Given the description of an element on the screen output the (x, y) to click on. 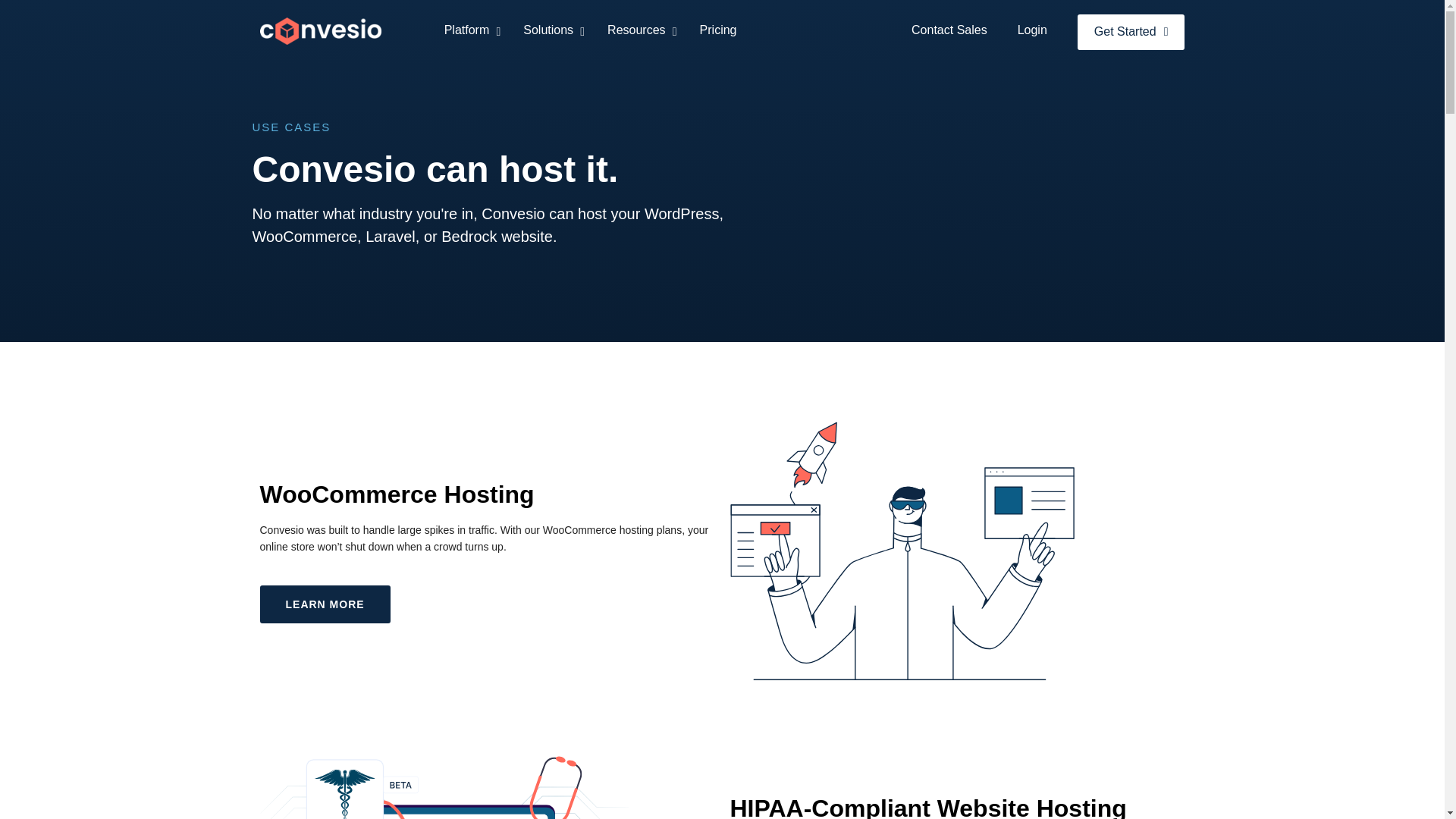
Platform (468, 30)
Solutions (550, 30)
Resources (638, 30)
